Given the description of an element on the screen output the (x, y) to click on. 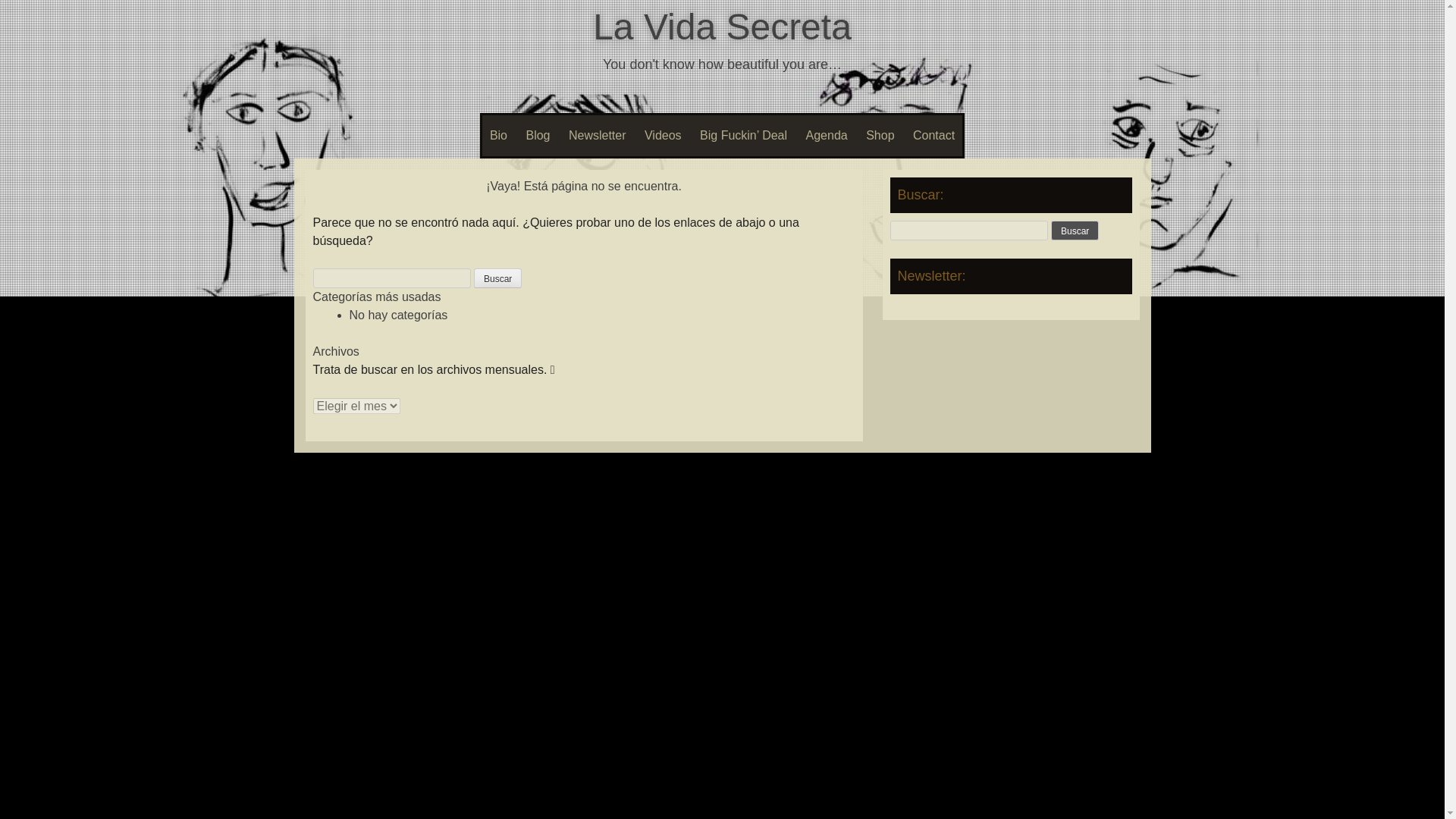
Shop (880, 135)
Blog (537, 135)
Contact (933, 135)
Newsletter (596, 135)
La Vida Secreta (721, 26)
Buscar (497, 278)
Videos (662, 135)
Buscar (497, 278)
Agenda (826, 135)
Buscar (1075, 230)
